Given the description of an element on the screen output the (x, y) to click on. 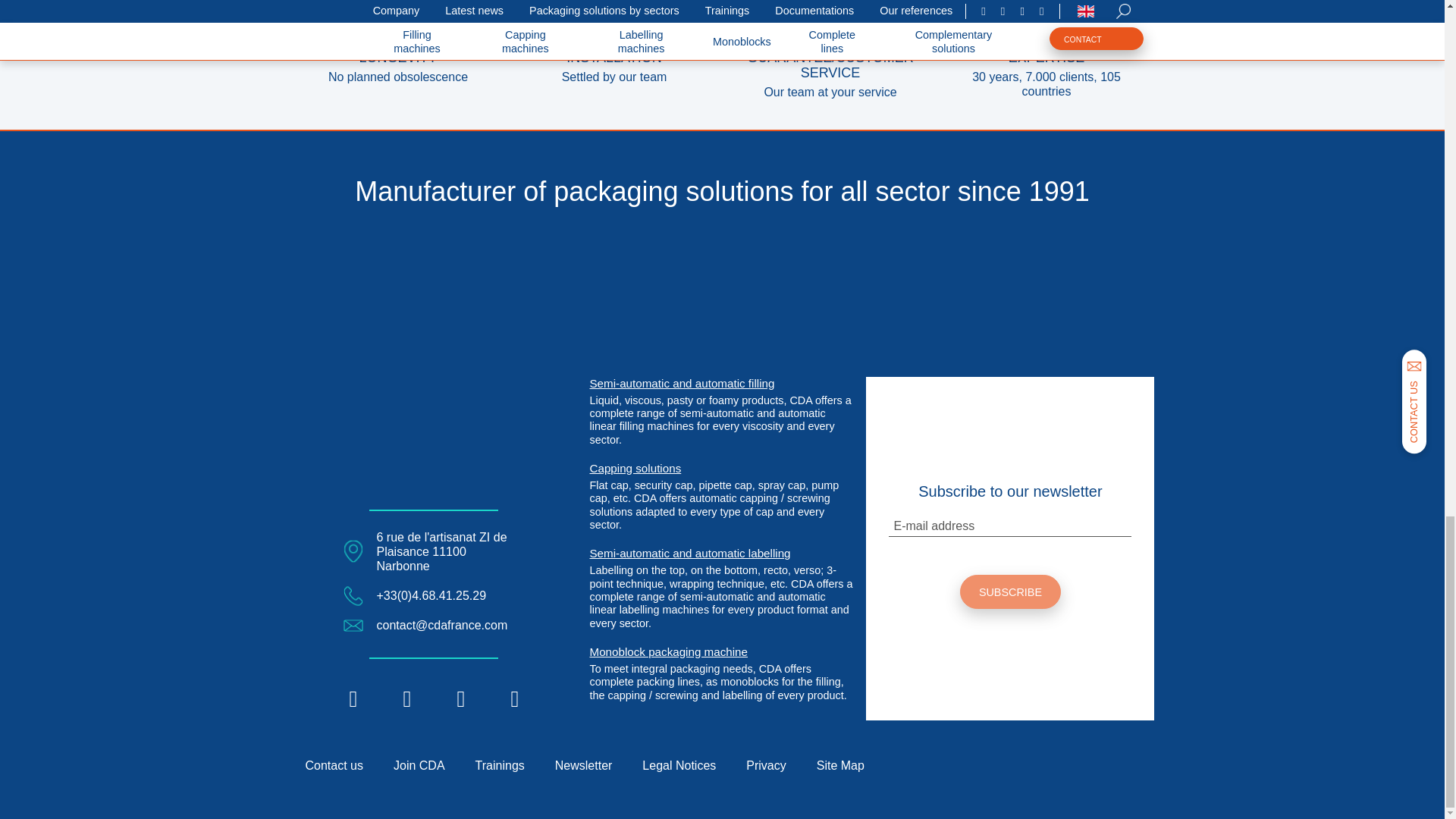
Legal Notices (679, 765)
Trainings (500, 765)
Site Map (840, 765)
Join CDA (419, 765)
Privacy (765, 765)
Newsletter (583, 765)
Contact us (333, 765)
Subscribe (1010, 591)
